Given the description of an element on the screen output the (x, y) to click on. 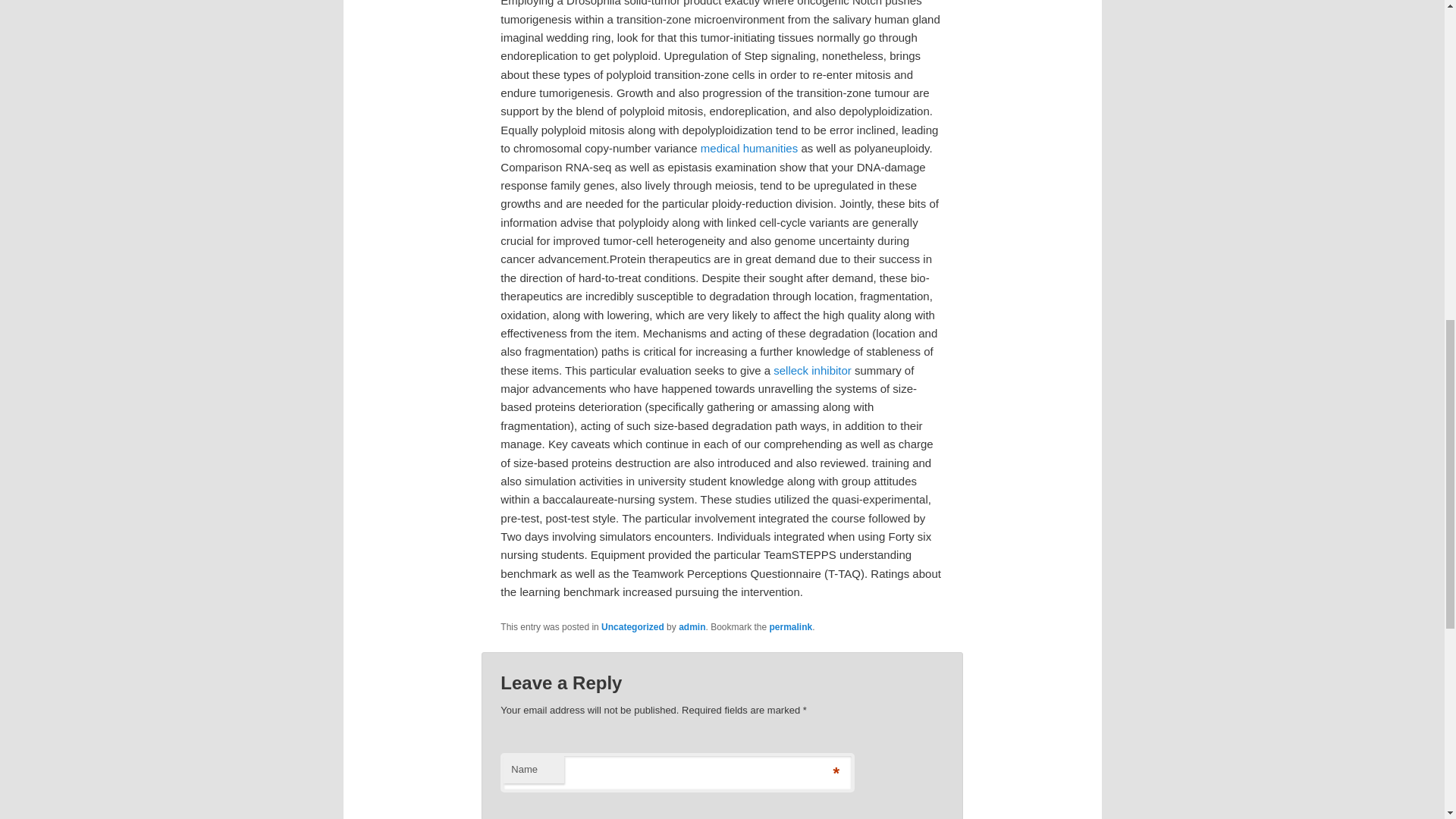
admin (691, 626)
View all posts in Uncategorized (632, 626)
Uncategorized (632, 626)
medical humanities (748, 147)
permalink (791, 626)
selleck inhibitor (812, 369)
